Given the description of an element on the screen output the (x, y) to click on. 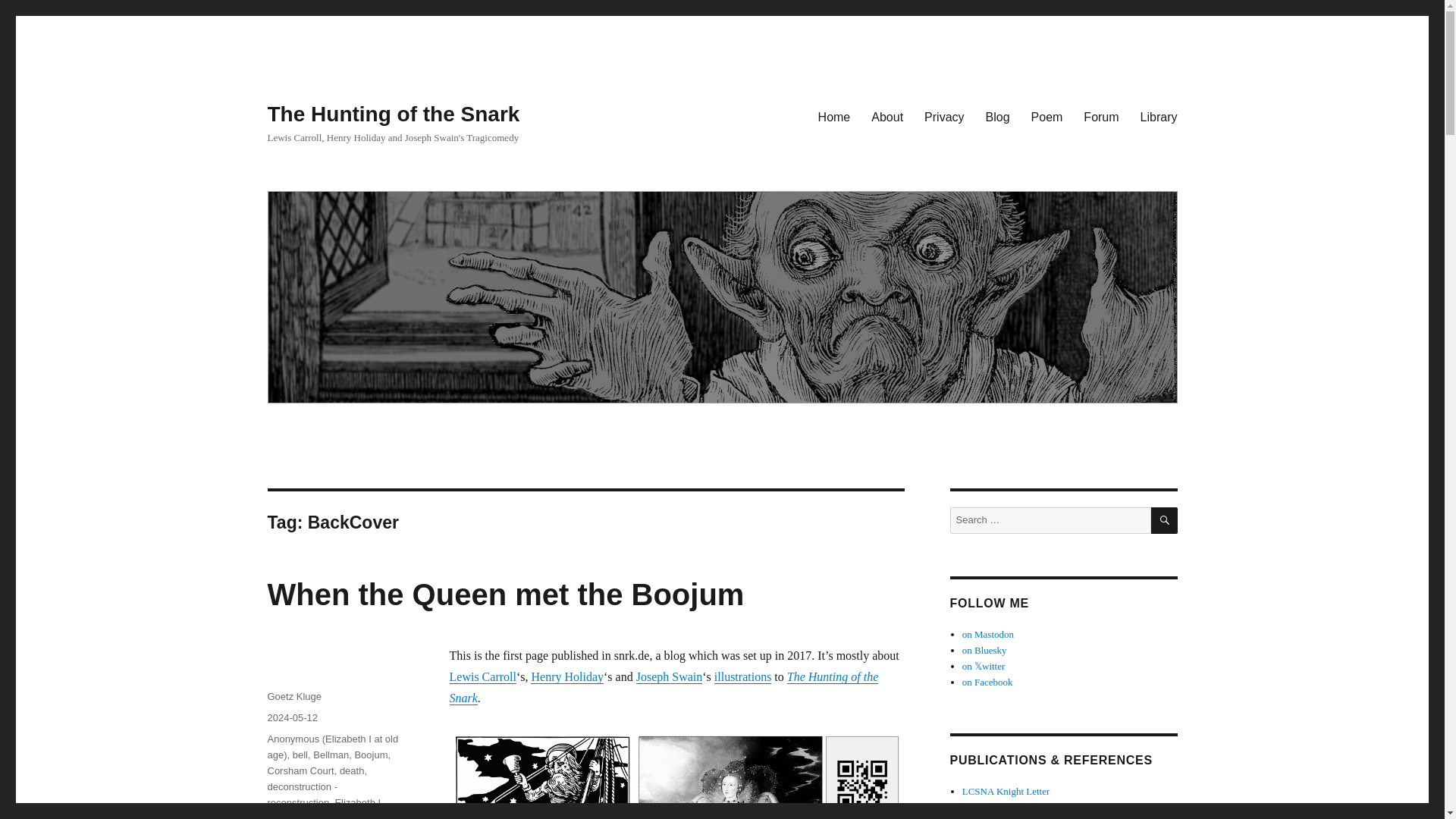
Elizabeth I (357, 802)
When the Queen met the Boojum (505, 594)
gallery (338, 816)
death (352, 770)
Blog (997, 116)
in focus (376, 816)
About (887, 116)
Home (834, 116)
Bellman (331, 754)
Privacy (944, 116)
Forum (1101, 116)
bell (299, 754)
Lewis Carroll (481, 676)
Library (1158, 116)
The Hunting of the Snark (662, 687)
